Given the description of an element on the screen output the (x, y) to click on. 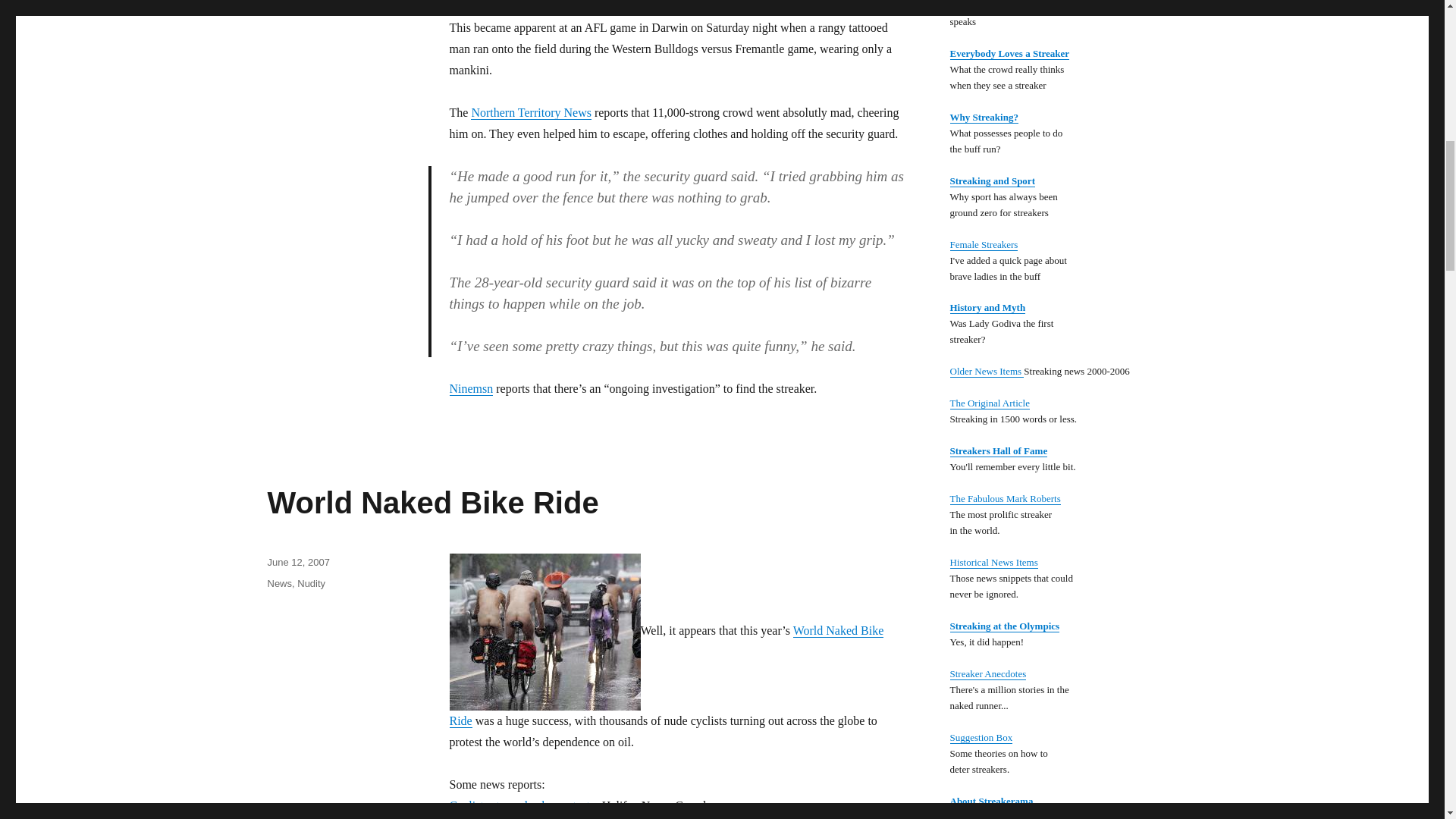
Ninemsn (470, 388)
World Naked Bike Ride (665, 675)
June 12, 2007 (297, 562)
Cyclists stage cheeky protest (518, 805)
News (279, 583)
Northern Territory News (530, 112)
World Naked Bike Ride (432, 502)
Nudity (310, 583)
